Given the description of an element on the screen output the (x, y) to click on. 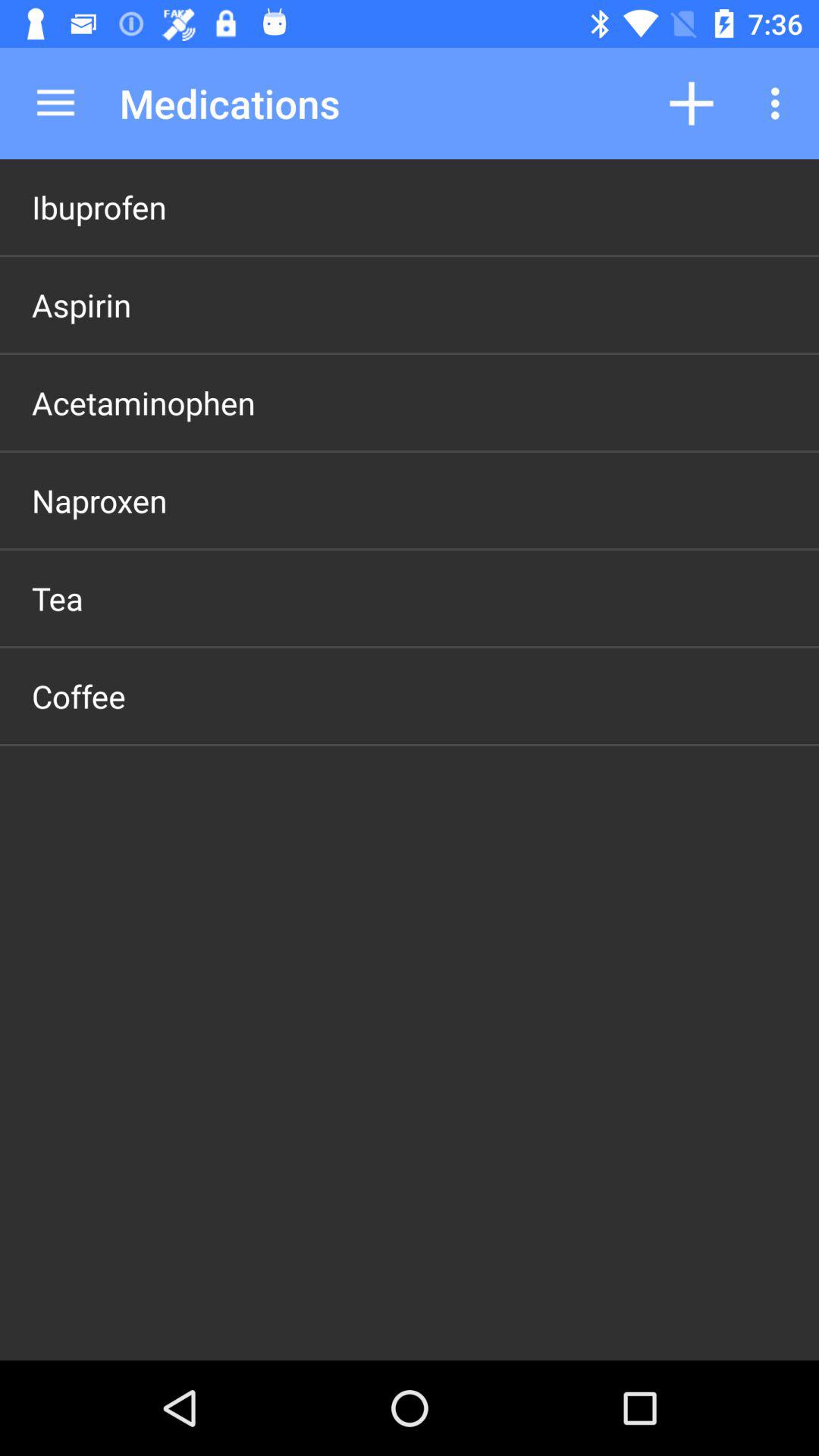
press the item above the aspirin app (99, 206)
